Given the description of an element on the screen output the (x, y) to click on. 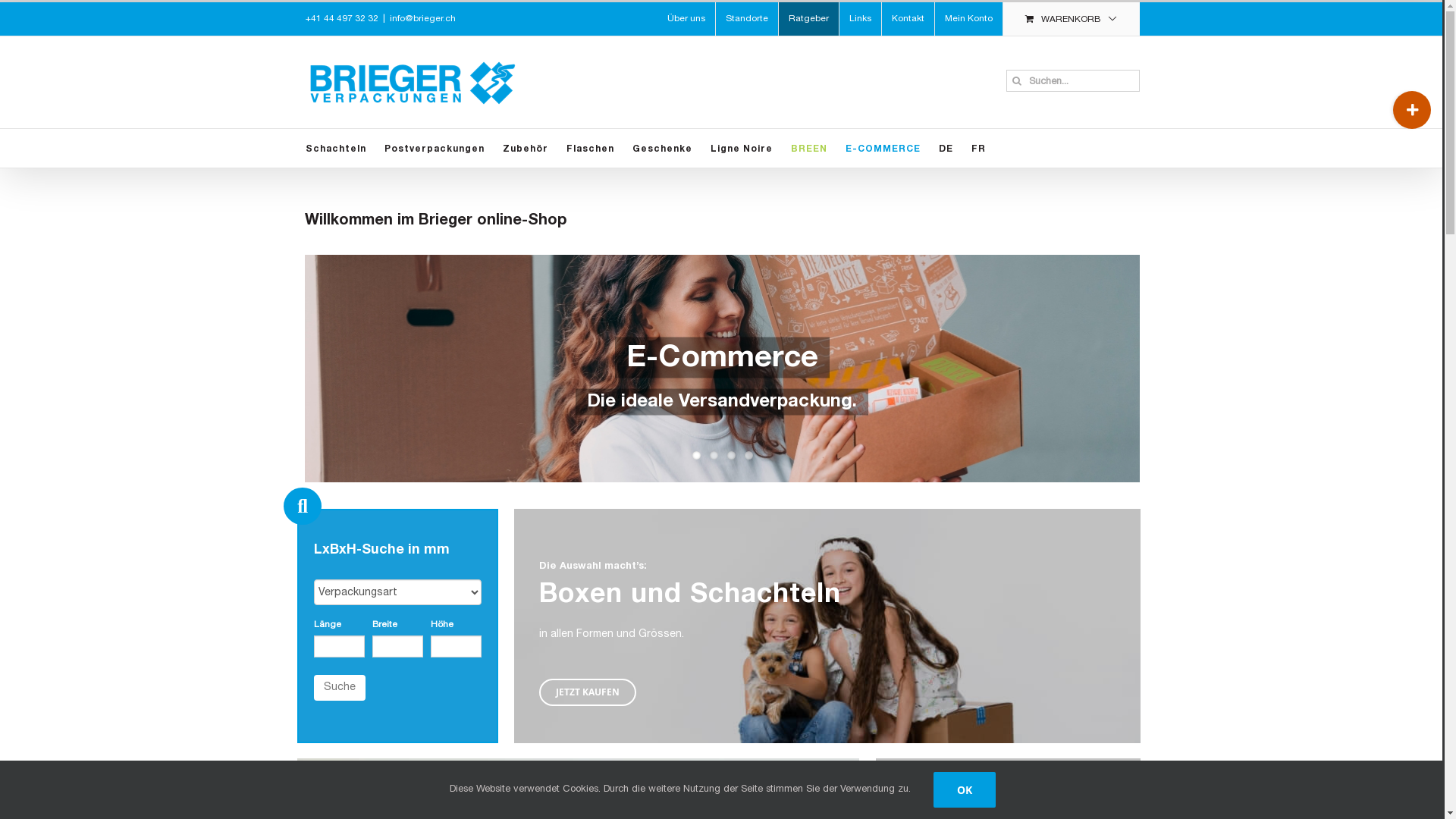
Standorte Element type: text (746, 18)
Anmelden Element type: text (1011, 152)
Schachteln Element type: text (334, 147)
E-COMMERCE Element type: text (881, 147)
FR Element type: text (977, 147)
2 Element type: text (713, 455)
Flaschen Element type: text (589, 147)
info@brieger.ch Element type: text (422, 18)
Toggle Sliding Bar Area Element type: text (1411, 109)
DE Element type: text (945, 147)
JETZT KAUFEN Element type: text (587, 692)
Suche Element type: text (339, 687)
1 Element type: text (695, 455)
Kontakt Element type: text (907, 18)
Ligne Noire Element type: text (740, 147)
BREEN Element type: text (808, 147)
WARENKORB Element type: text (1070, 18)
Geschenke Element type: text (662, 147)
3 Element type: text (730, 455)
4 Element type: text (748, 455)
OK Element type: text (963, 789)
Postverpackungen Element type: text (433, 147)
Ratgeber Element type: text (807, 18)
Mein Konto Element type: text (967, 18)
Links Element type: text (859, 18)
